Given the description of an element on the screen output the (x, y) to click on. 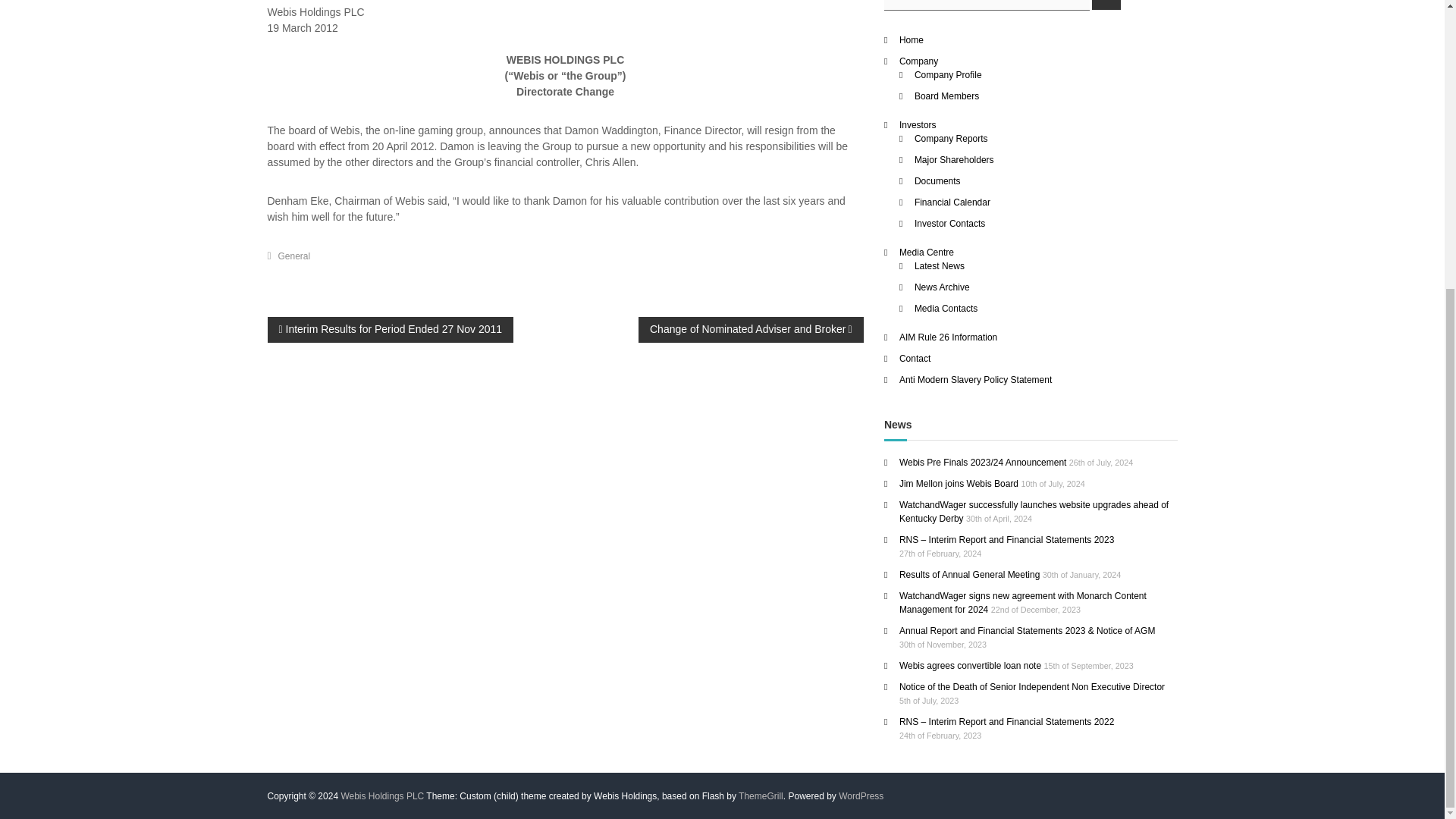
Company Profile (947, 73)
Search (1106, 4)
Investors (917, 123)
Change of Nominated Adviser and Broker (751, 329)
General (294, 255)
Major Shareholders (954, 158)
Company Reports (951, 137)
Home (911, 39)
Interim Results for Period Ended 27 Nov 2011 (389, 329)
Board Members (946, 95)
Company (918, 60)
